Given the description of an element on the screen output the (x, y) to click on. 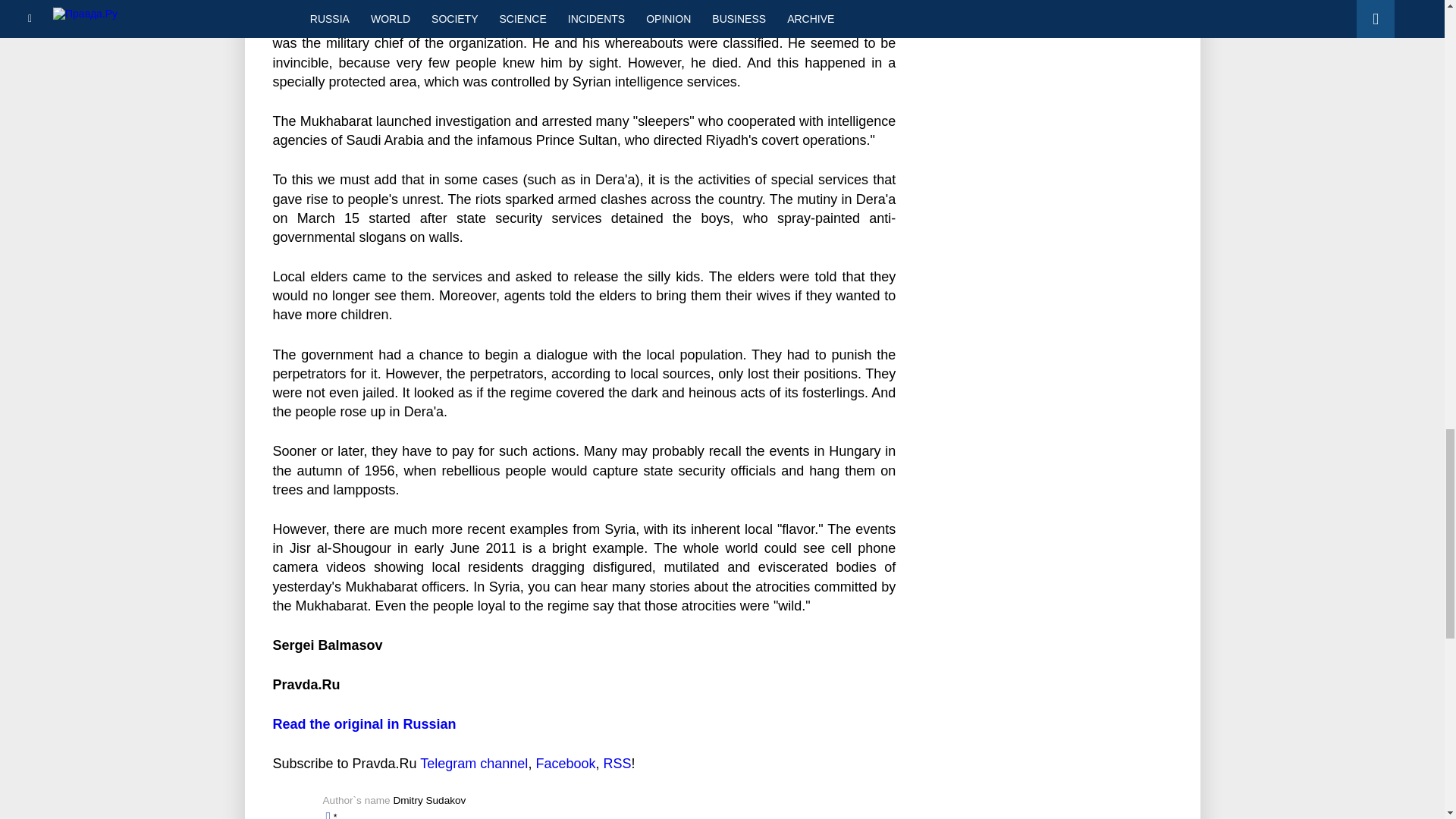
Facebook (565, 763)
Telegram channel (473, 763)
Dmitry Sudakov (429, 799)
RSS (616, 763)
Read the original in Russian (365, 724)
